Given the description of an element on the screen output the (x, y) to click on. 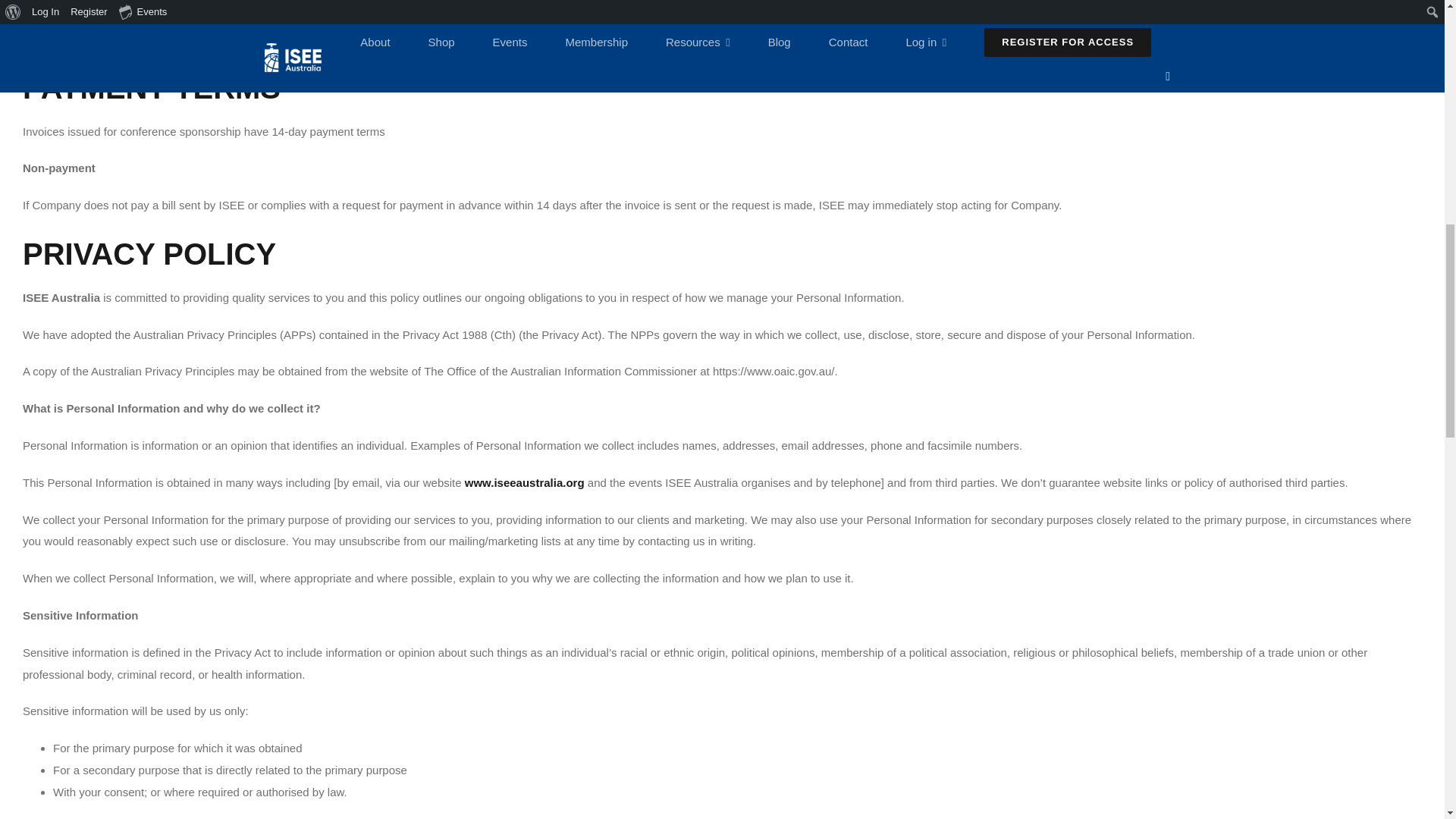
www.iseeaustralia.org (524, 481)
